Given the description of an element on the screen output the (x, y) to click on. 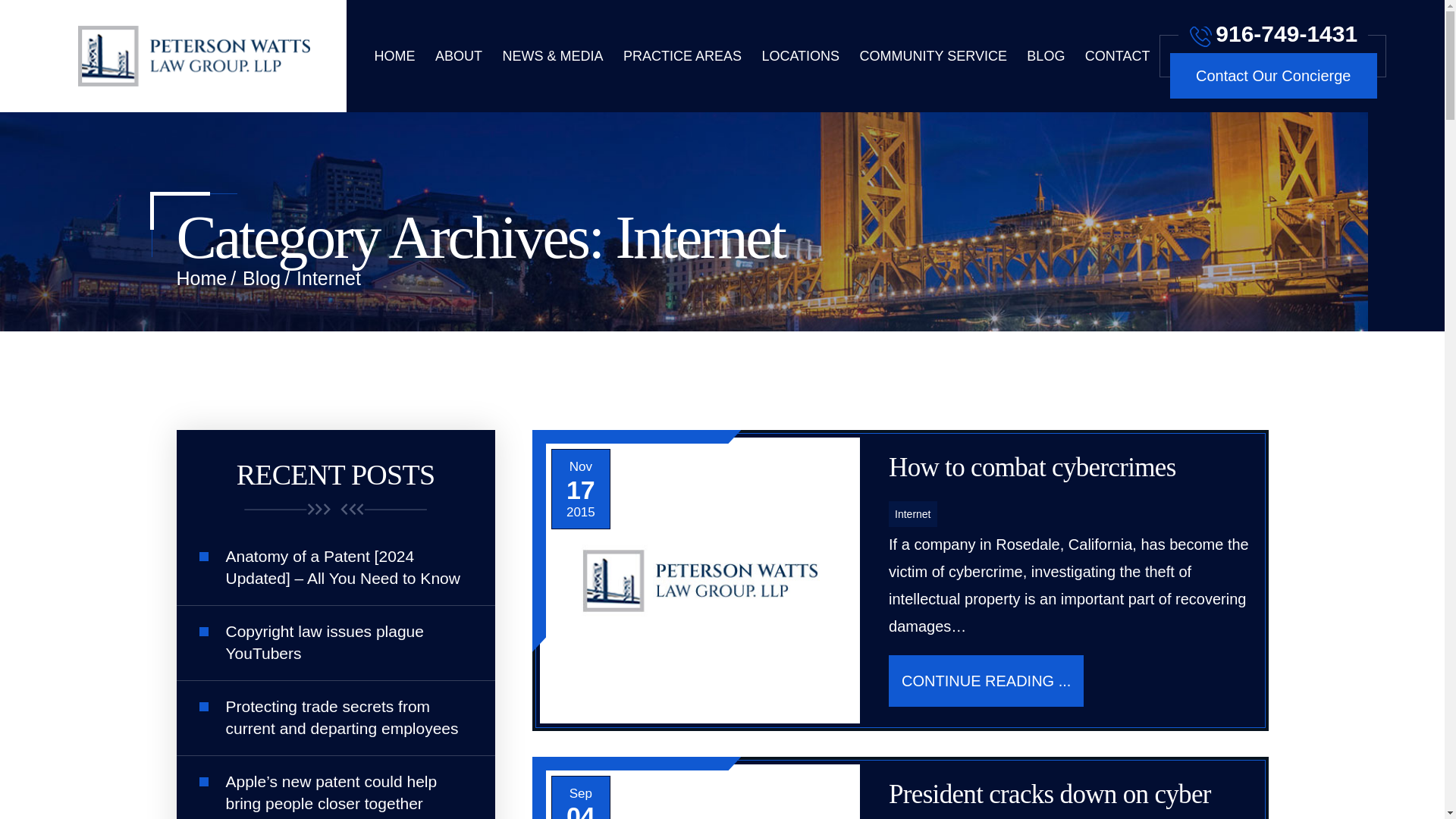
Go to Peterson Watts Law Group, LLP. (201, 278)
916-749-1431 (1272, 29)
COMMUNITY SERVICE (933, 55)
Contact Our Concierge (1273, 75)
ABOUT (458, 55)
BLOG (1045, 55)
CONTACT (1117, 55)
HOME (394, 55)
Go to Blog. (262, 278)
PRACTICE AREAS (682, 55)
LOCATIONS (800, 55)
